Given the description of an element on the screen output the (x, y) to click on. 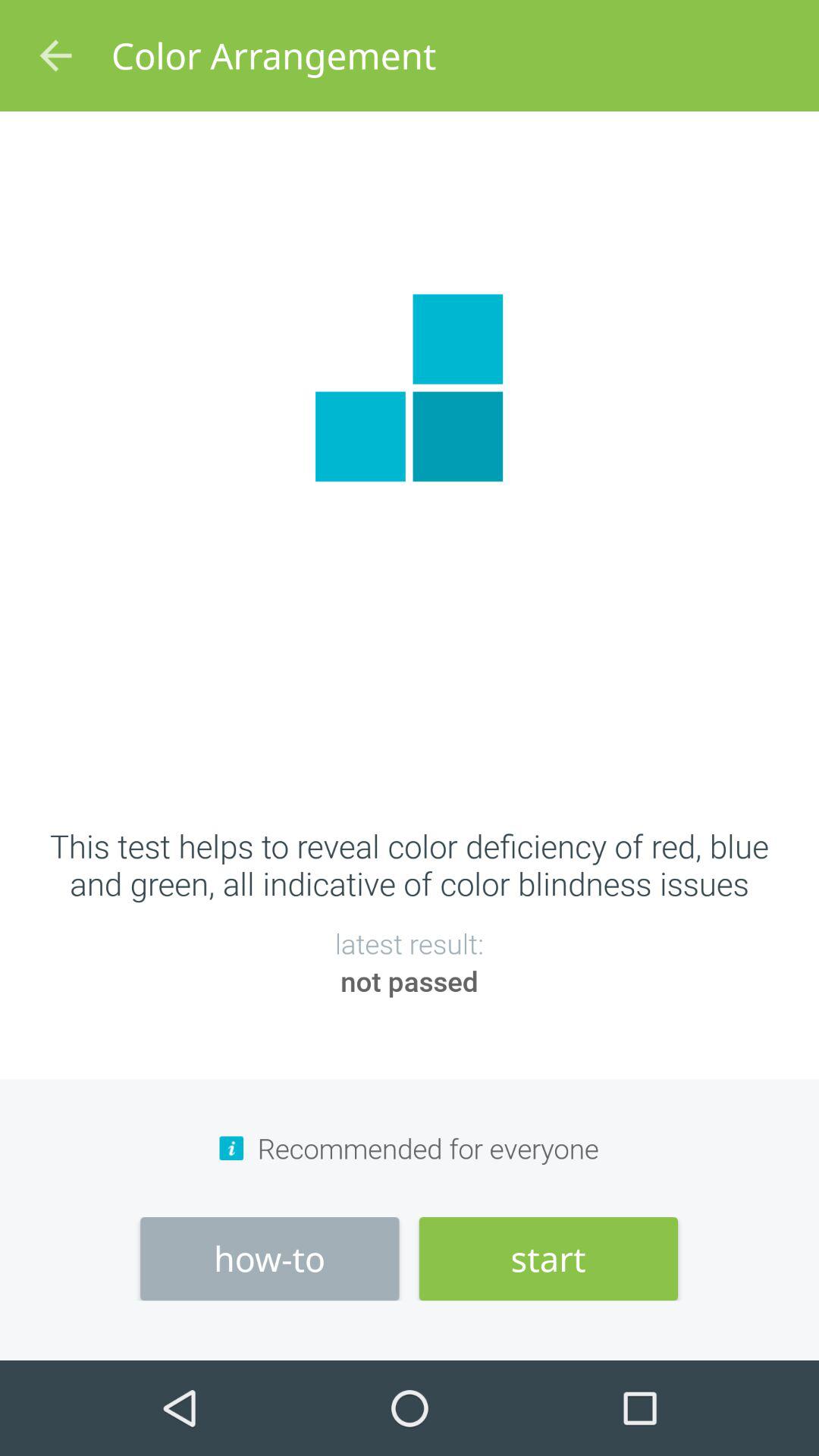
launch item below recommended for everyone (548, 1258)
